Given the description of an element on the screen output the (x, y) to click on. 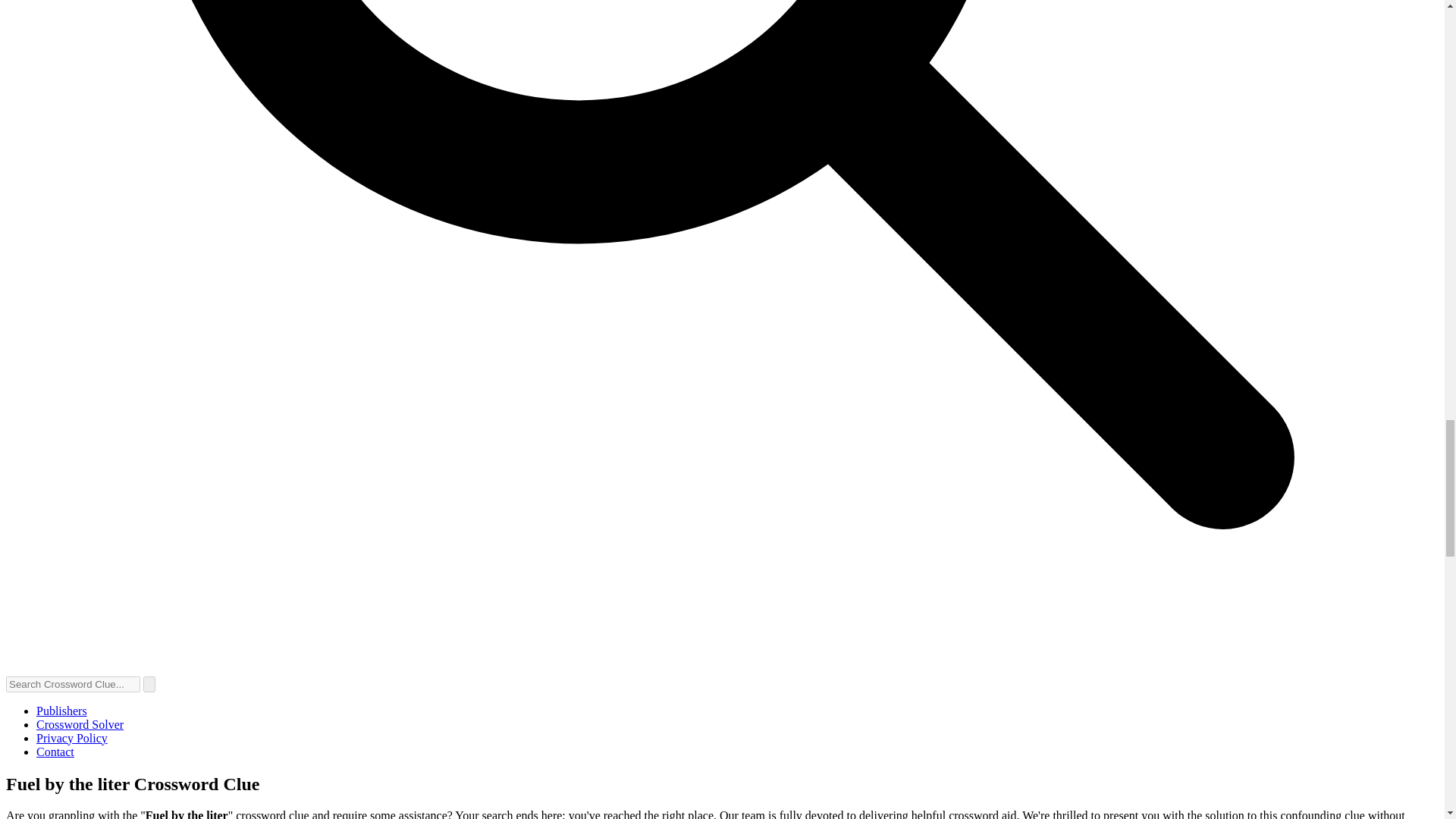
Crossword Solver (79, 724)
Publishers (61, 710)
Contact (55, 751)
Privacy Policy (71, 738)
